Given the description of an element on the screen output the (x, y) to click on. 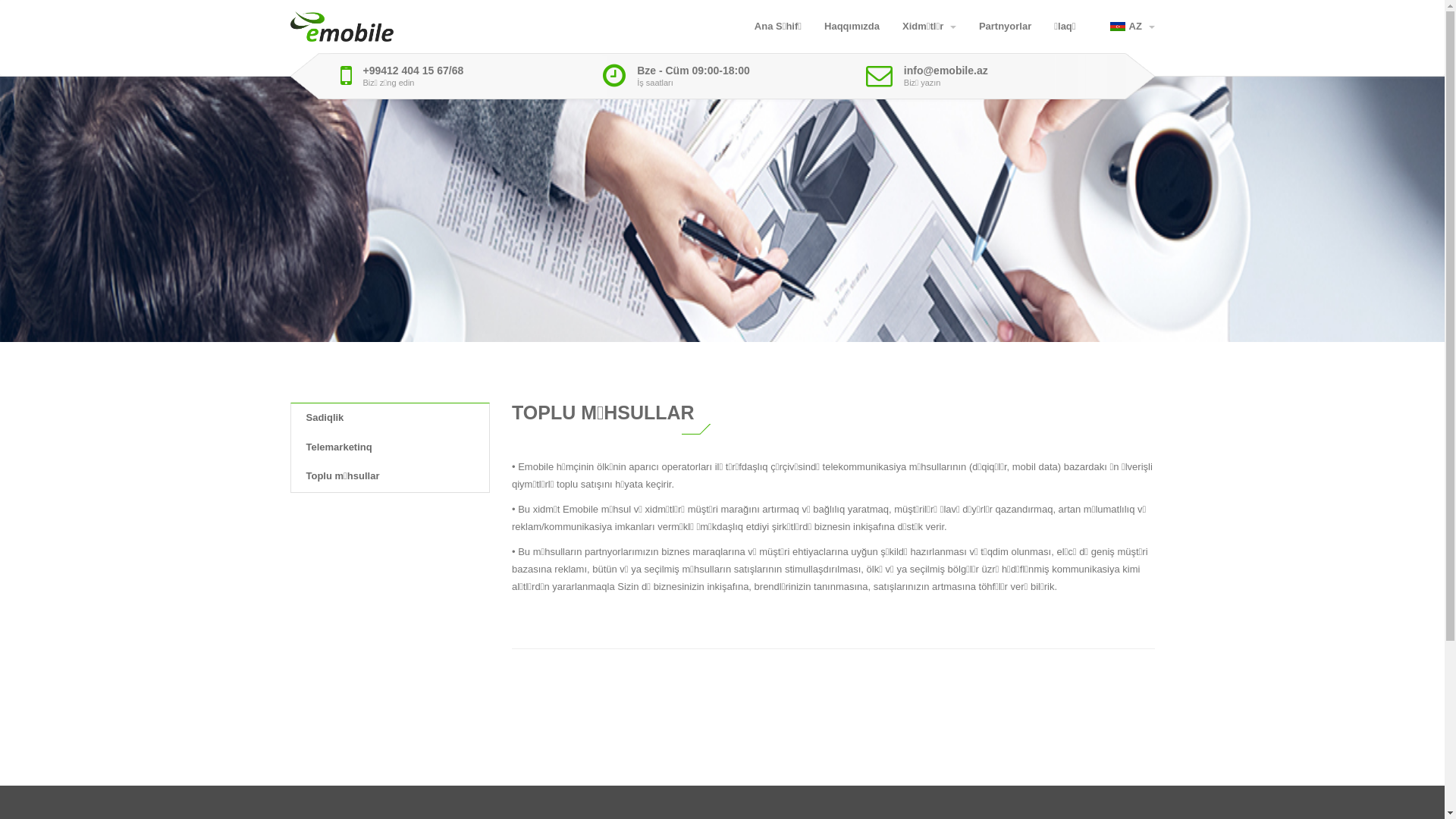
AZ Element type: text (1132, 26)
Sadiqlik Element type: text (390, 418)
Partnyorlar Element type: text (1004, 26)
Telemarketinq Element type: text (390, 447)
